Given the description of an element on the screen output the (x, y) to click on. 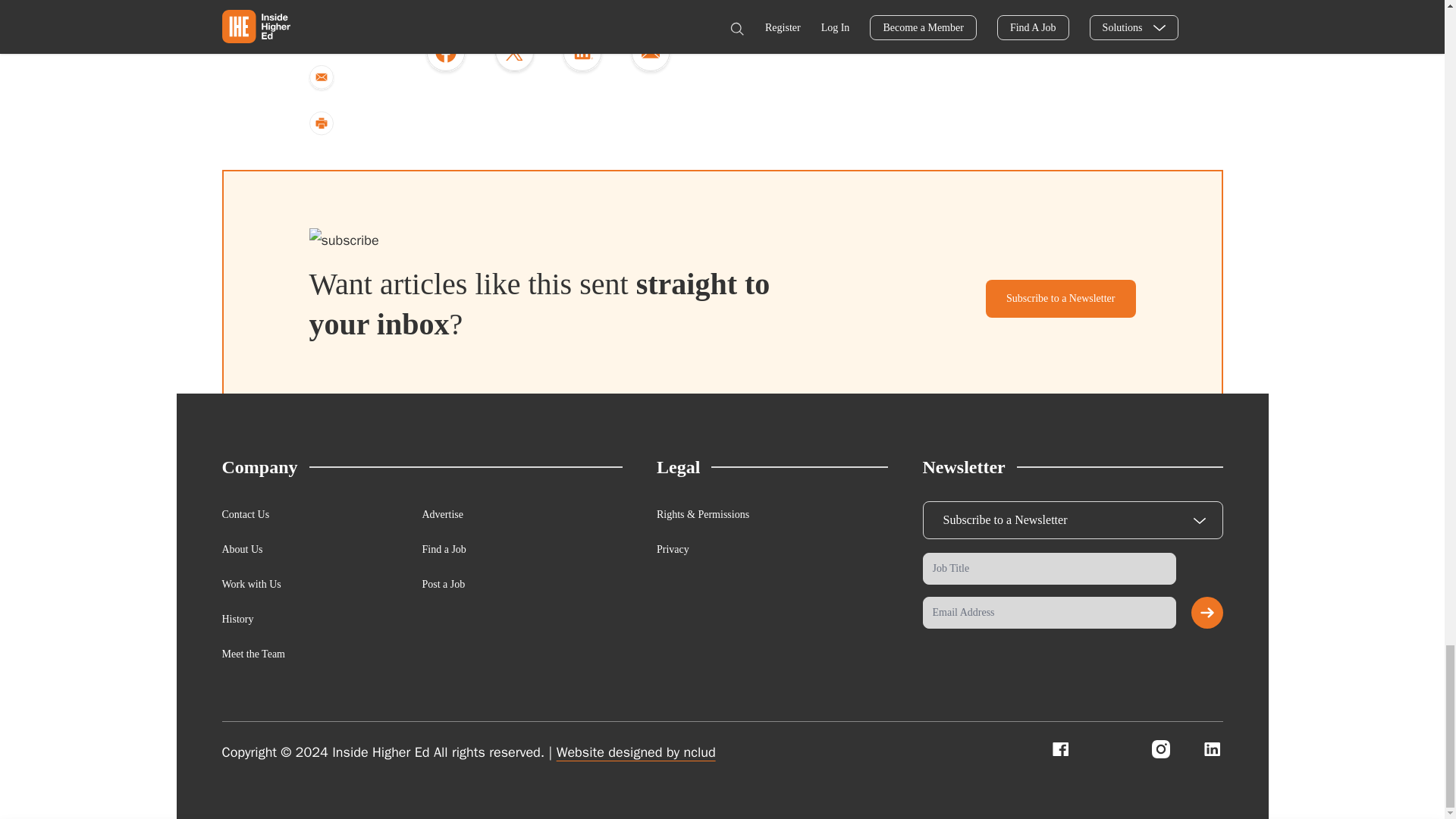
share to facebook (445, 54)
Submit (1207, 612)
